Given the description of an element on the screen output the (x, y) to click on. 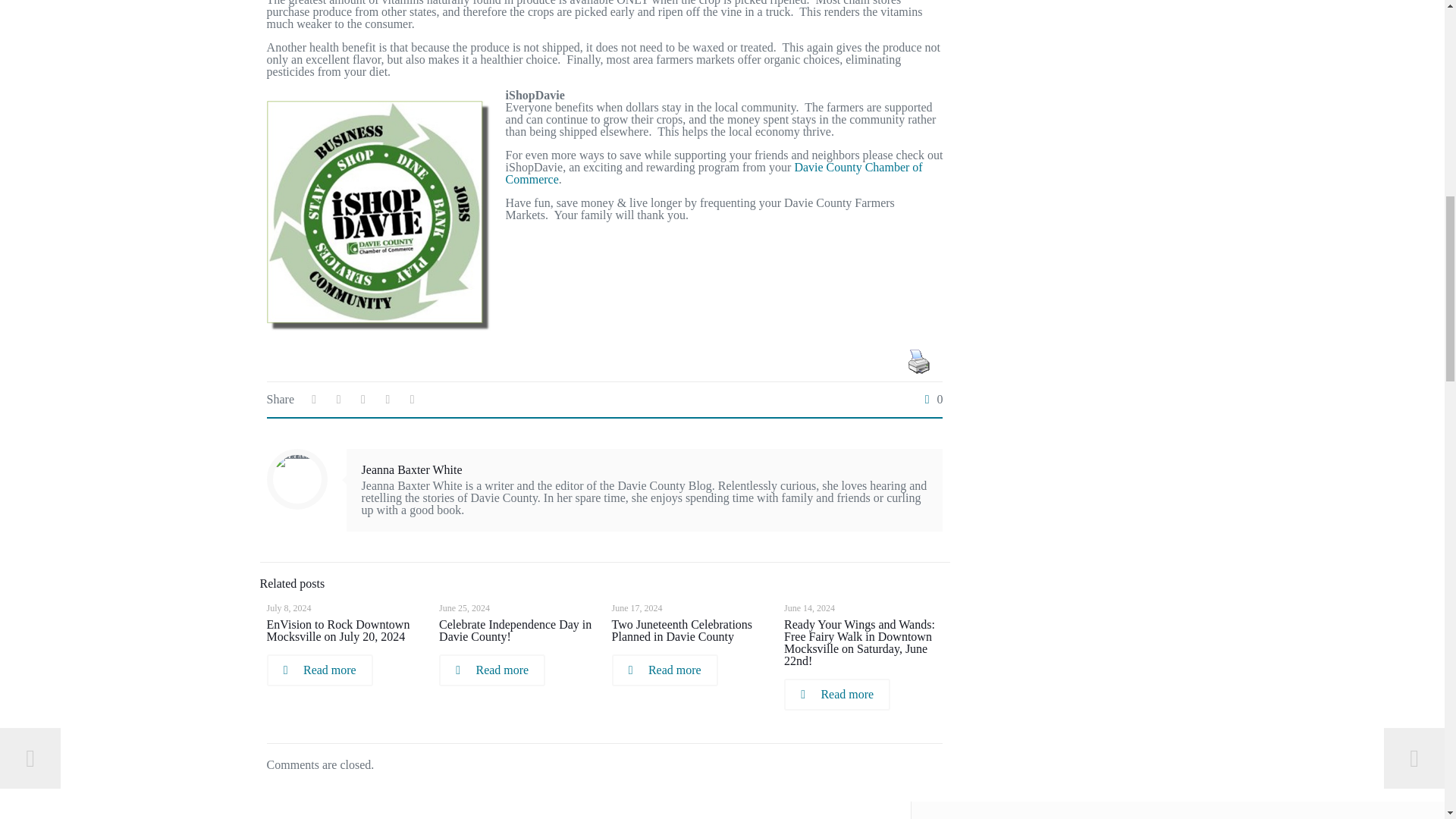
Davie County Chamber of Commerce (714, 172)
0 (930, 399)
Jeanna Baxter White (412, 469)
Print Content (918, 361)
